Given the description of an element on the screen output the (x, y) to click on. 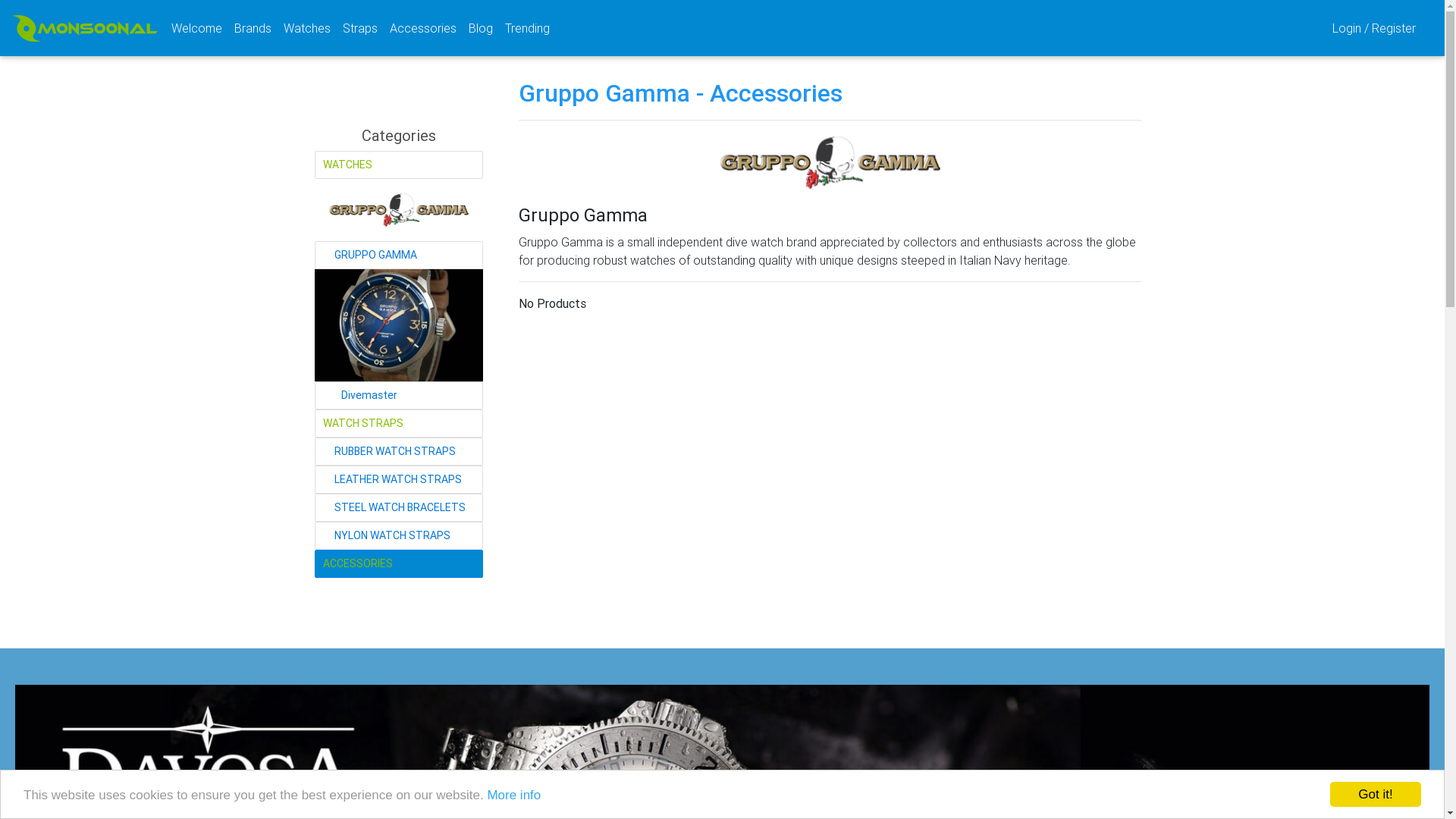
WATCHES Element type: text (398, 164)
Gruppo Gamma Element type: hover (830, 162)
Gruppo Gamma Element type: hover (398, 210)
Login / Register Element type: text (1376, 27)
Got it! Element type: text (1375, 793)
Accessories
(current) Element type: text (422, 27)
Trending Element type: text (526, 27)
More info Element type: text (513, 794)
  Element type: text (1304, 27)
Straps
(current) Element type: text (359, 27)
Welcome Element type: text (196, 27)
ACCESSORIES Element type: text (398, 563)
WATCH STRAPS Element type: text (398, 423)
Blog Element type: text (480, 27)
Divemaster Element type: hover (398, 325)
Brands
(current) Element type: text (252, 27)
Watches
(current) Element type: text (306, 27)
